Given the description of an element on the screen output the (x, y) to click on. 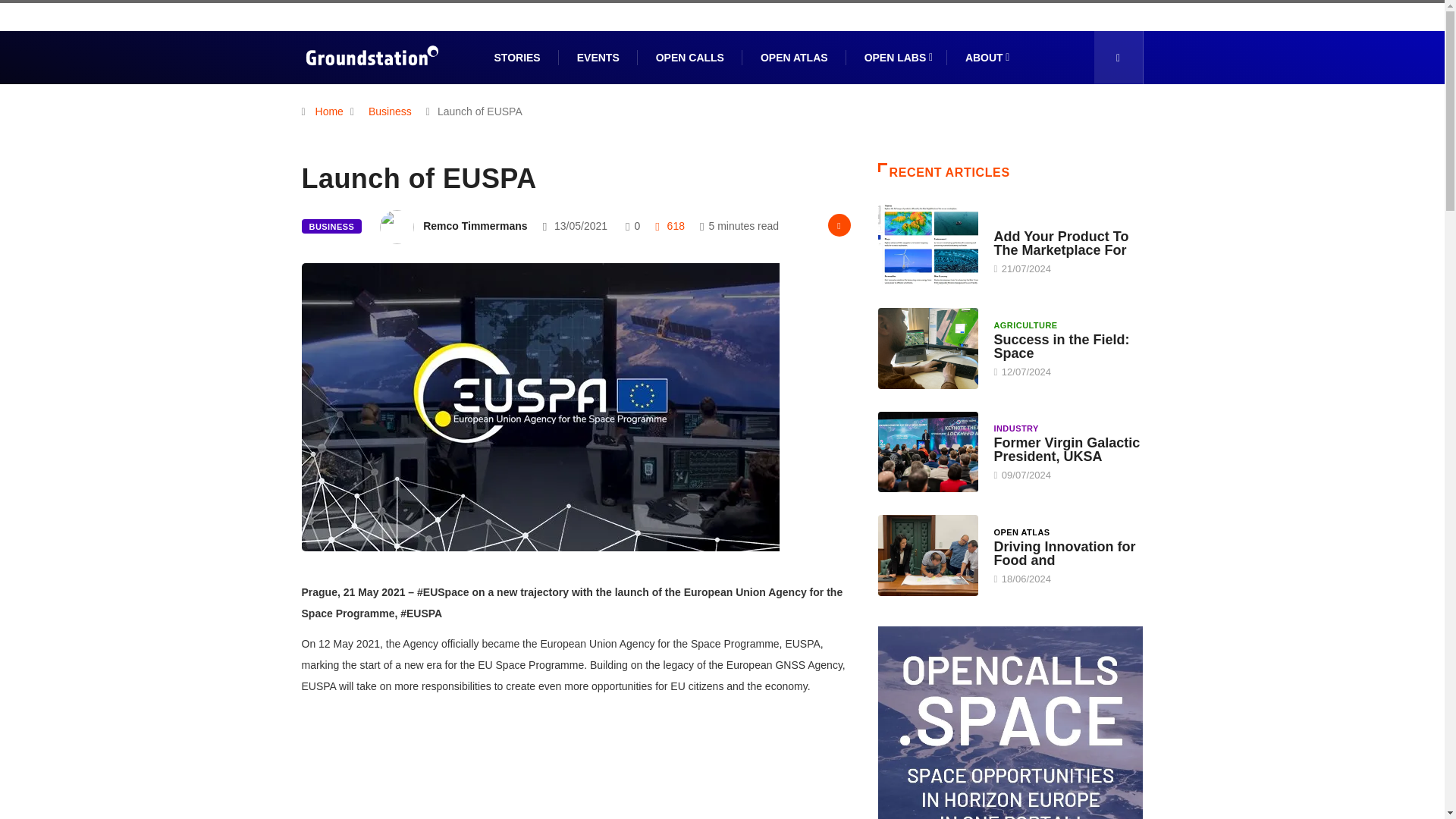
popup modal for search (1117, 57)
OPEN CALLS (689, 57)
BUSINESS (331, 226)
OPEN ATLAS (794, 57)
OPEN LABS (896, 57)
